Given the description of an element on the screen output the (x, y) to click on. 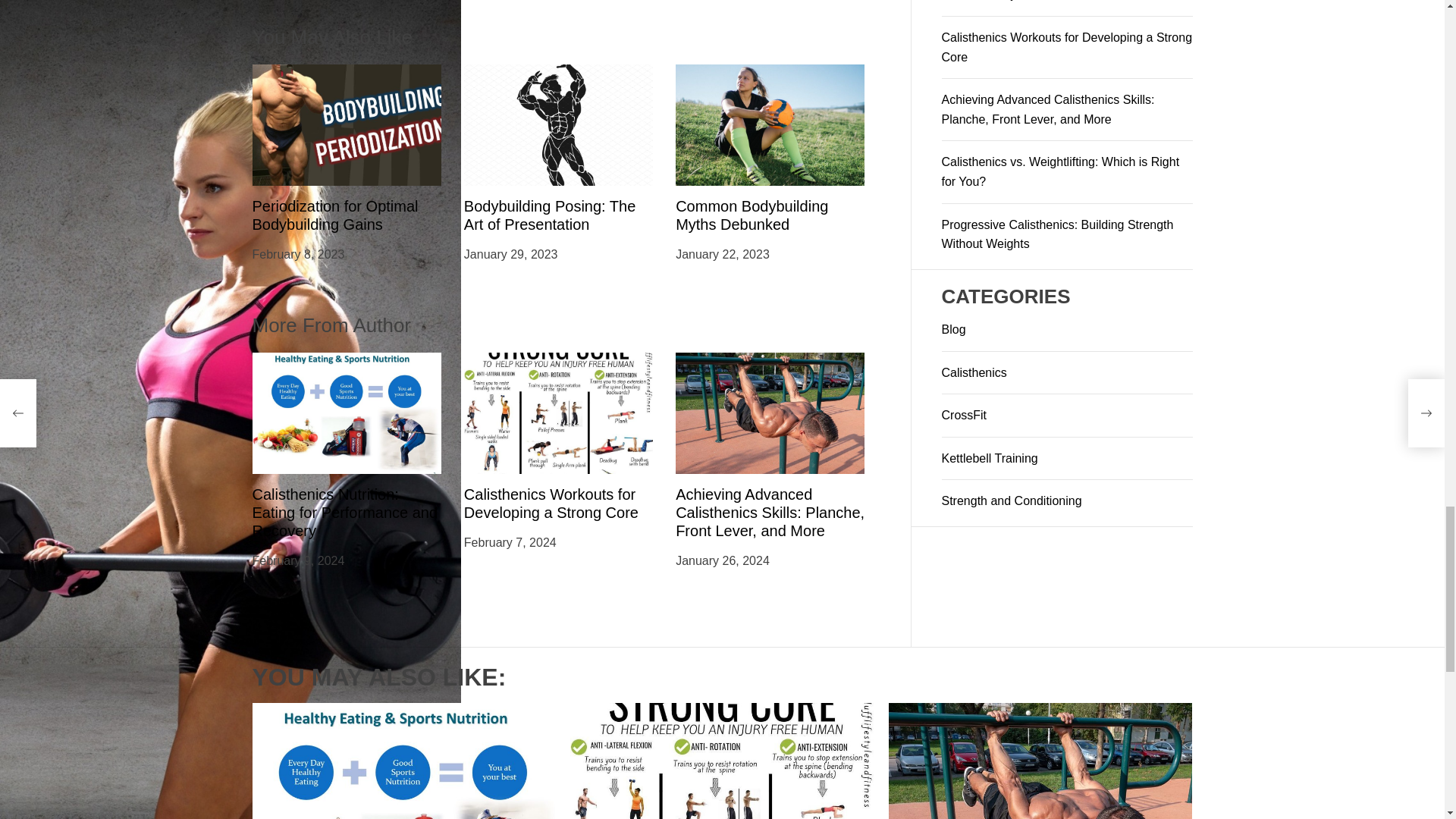
Calisthenics Nutrition: Eating for Performance and Recovery (344, 512)
Periodization for Optimal Bodybuilding Gains (334, 215)
Bodybuilding Posing: The Art of Presentation (549, 215)
Calisthenics Workouts for Developing a Strong Core (551, 503)
Common Bodybuilding Myths Debunked (751, 215)
